Given the description of an element on the screen output the (x, y) to click on. 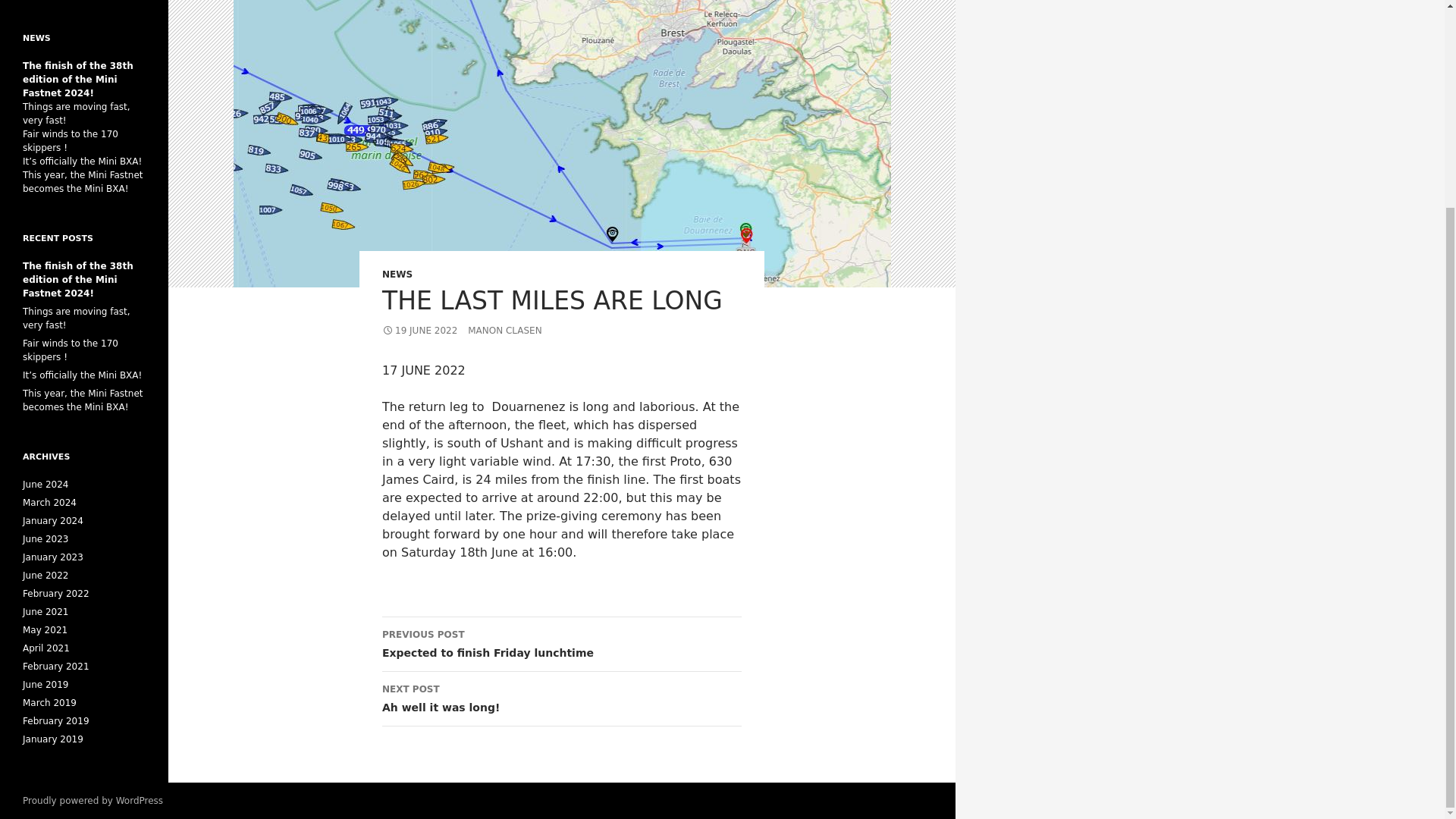
NEWS (396, 274)
Things are moving fast, very fast! (77, 113)
The finish of the 38th edition of the Mini Fastnet 2024! (78, 279)
NEWS (36, 38)
The finish of the 38th edition of the Mini Fastnet 2024! (78, 79)
19 JUNE 2022 (561, 698)
Fair winds to the 170 skippers ! (419, 330)
This year, the Mini Fastnet becomes the Mini BXA! (70, 140)
Things are moving fast, very fast! (82, 181)
